Given the description of an element on the screen output the (x, y) to click on. 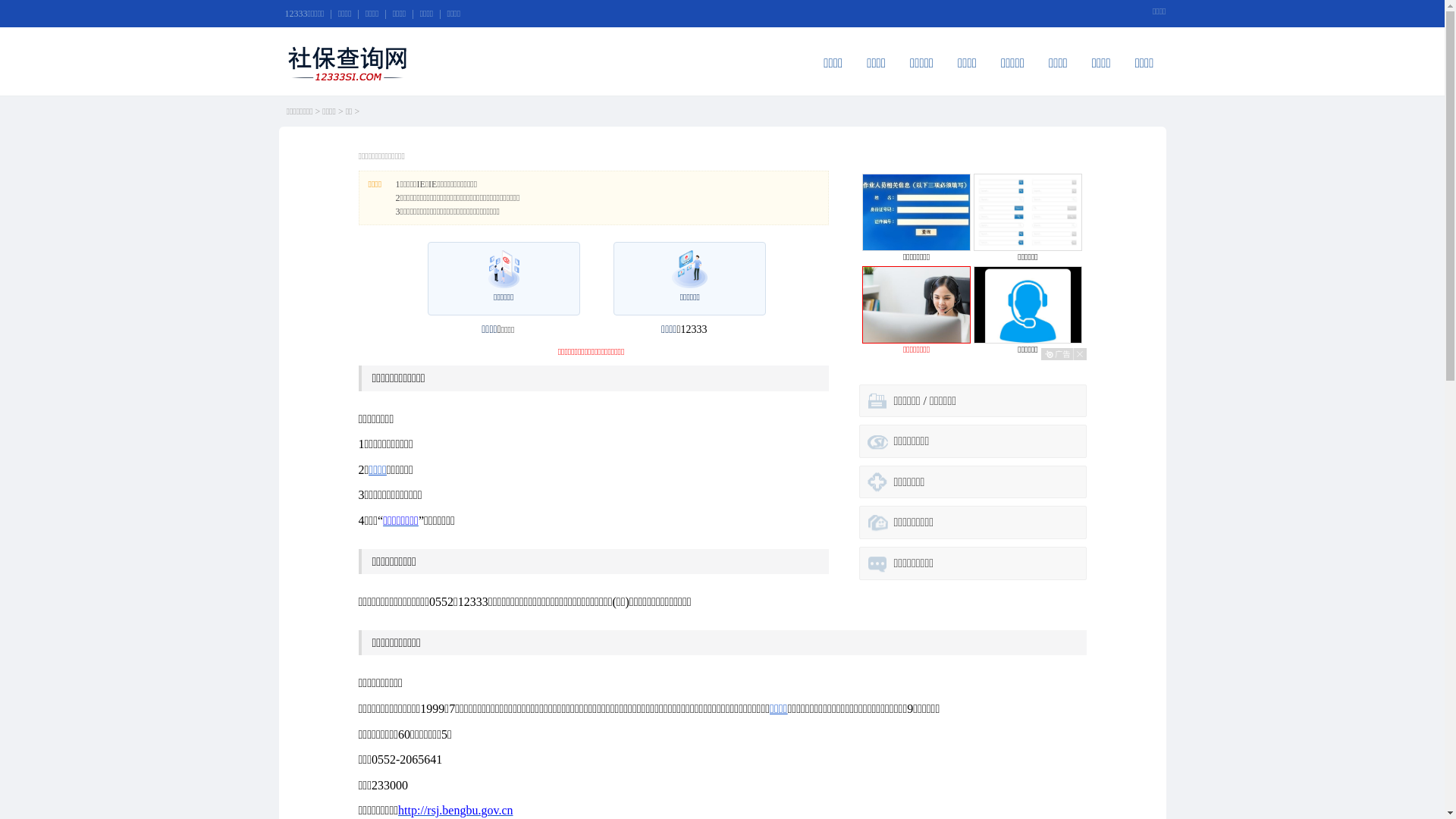
http://rsj.bengbu.gov.cn Element type: text (455, 809)
